Given the description of an element on the screen output the (x, y) to click on. 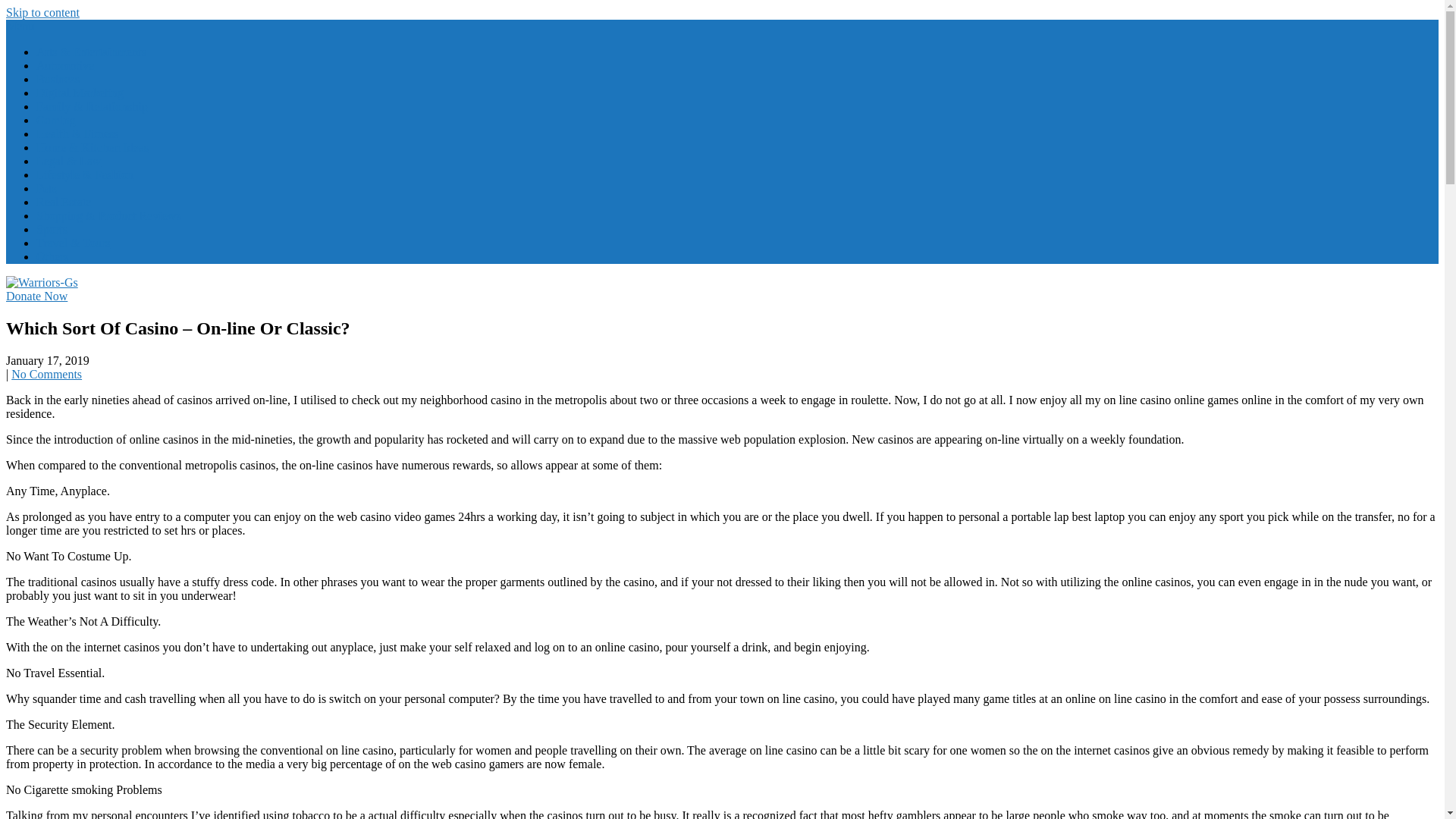
Sports (51, 228)
Automotive (65, 65)
Skip to content (42, 11)
Real Estate (63, 201)
No Comments (46, 373)
Others (52, 256)
Donate Now (35, 295)
Business (58, 78)
Warriors-Gs (71, 318)
Pets (46, 187)
Gaming (55, 119)
Digital Marketing (79, 92)
Menu (19, 25)
